Given the description of an element on the screen output the (x, y) to click on. 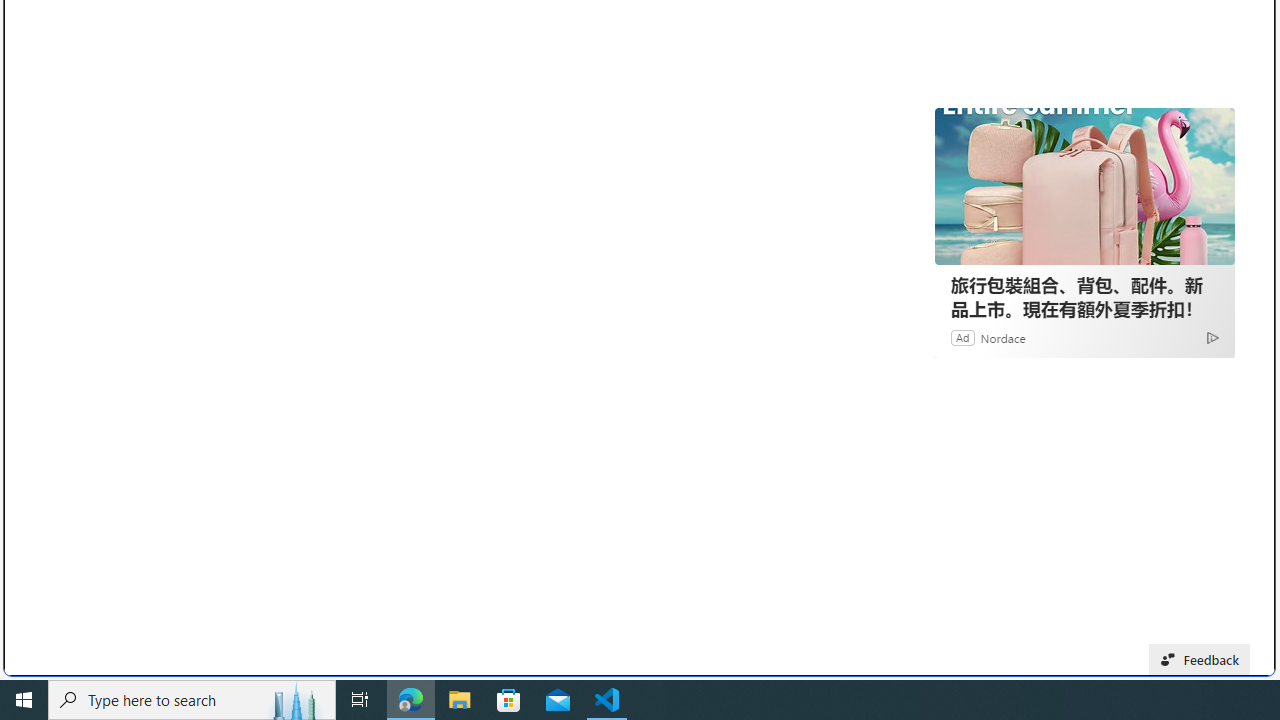
Nordace (1003, 337)
Ad Choice (1212, 336)
Feedback (1199, 659)
Ad (963, 337)
